Given the description of an element on the screen output the (x, y) to click on. 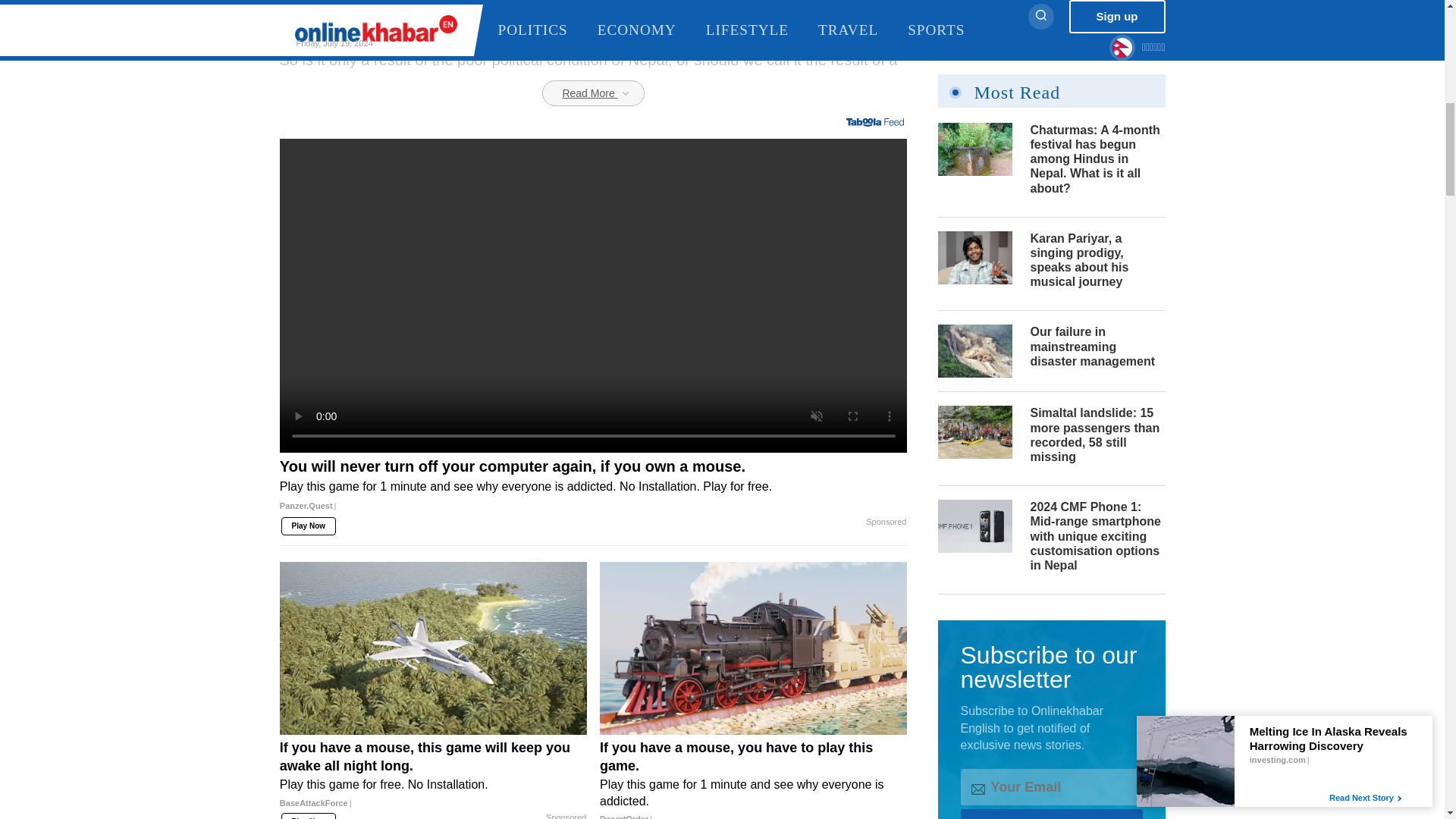
Play Now (308, 816)
Read More (592, 93)
"Description: Play this game for free. No Installation." (432, 784)
Subscribe (1050, 14)
Sponsored (566, 816)
Subscribe (1050, 14)
Sponsored (885, 522)
Play Now (308, 525)
